Given the description of an element on the screen output the (x, y) to click on. 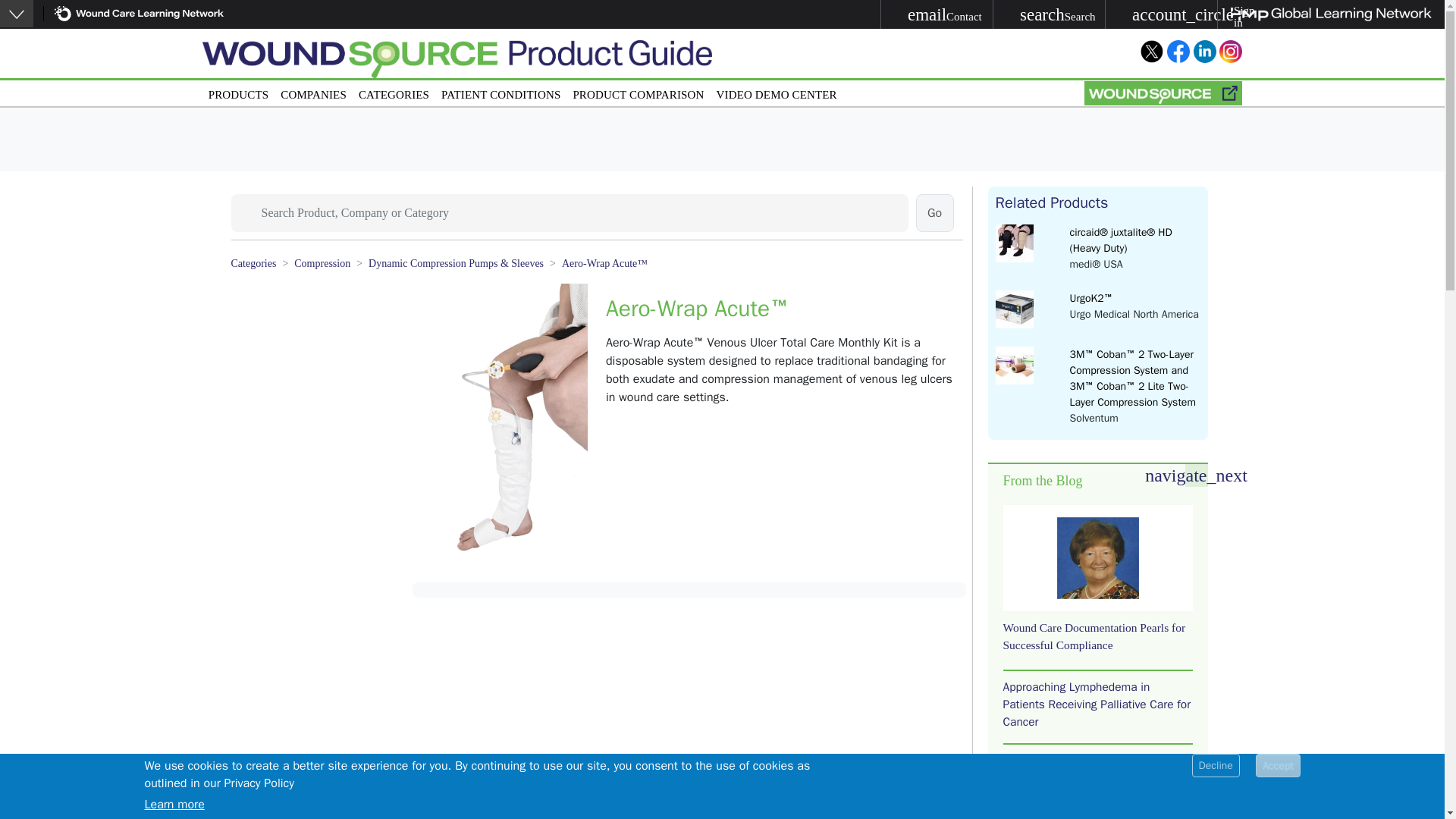
Compression (322, 263)
PATIENT CONDITIONS (500, 92)
CATEGORIES (393, 92)
Categories (253, 263)
Go (934, 212)
COMPANIES (936, 14)
PRODUCTS (313, 92)
VIDEO DEMO CENTER (238, 92)
Go (776, 92)
